Given the description of an element on the screen output the (x, y) to click on. 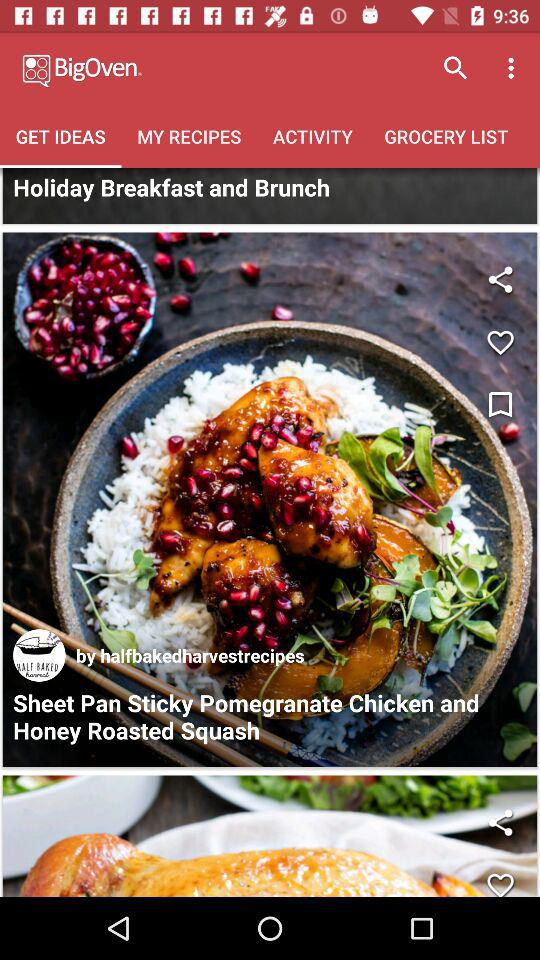
tap for more pictures (269, 196)
